Given the description of an element on the screen output the (x, y) to click on. 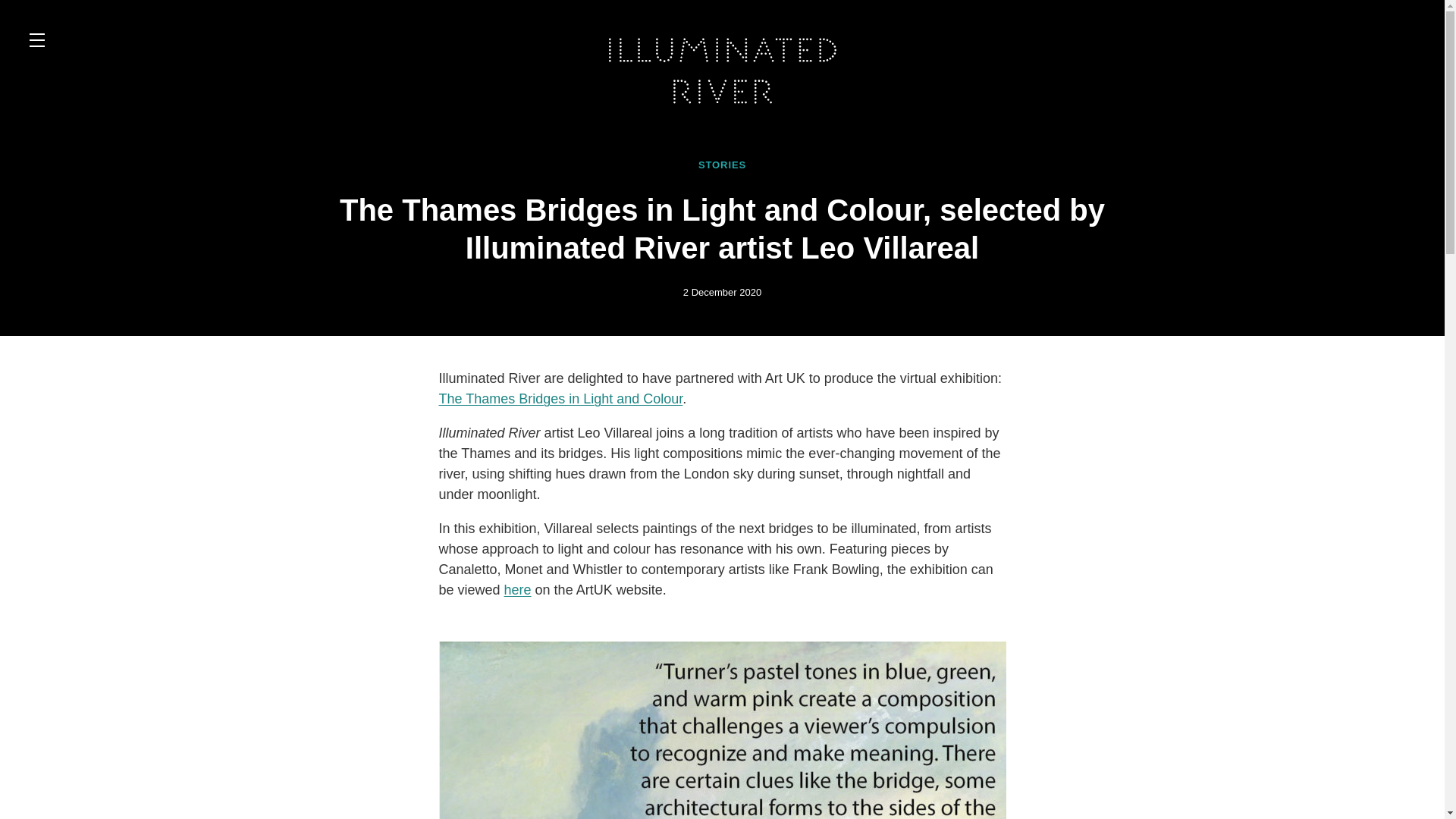
here (517, 589)
The Thames Bridges in Light and Colour (560, 398)
STORIES (721, 165)
